Given the description of an element on the screen output the (x, y) to click on. 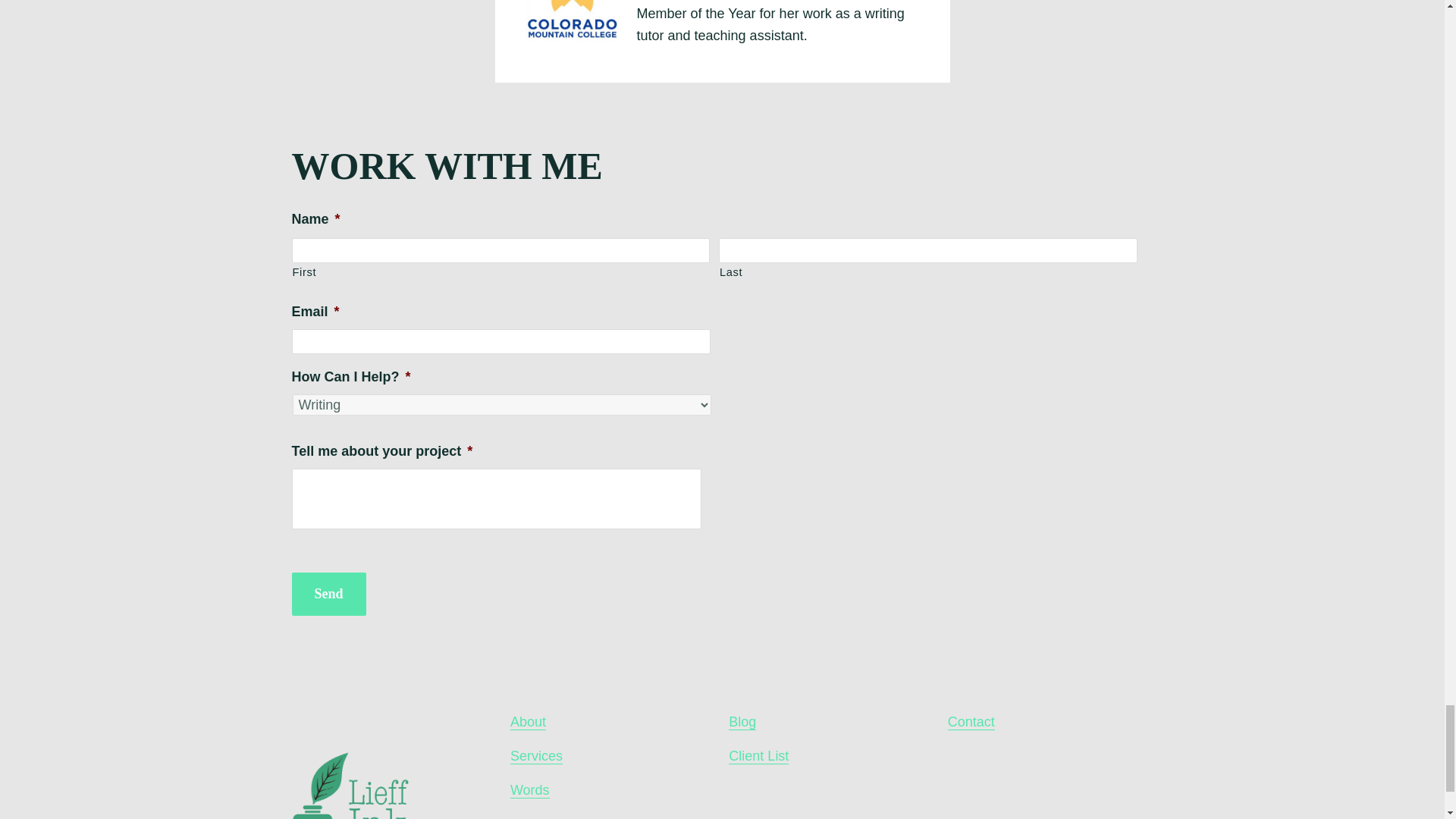
Send (328, 593)
